Given the description of an element on the screen output the (x, y) to click on. 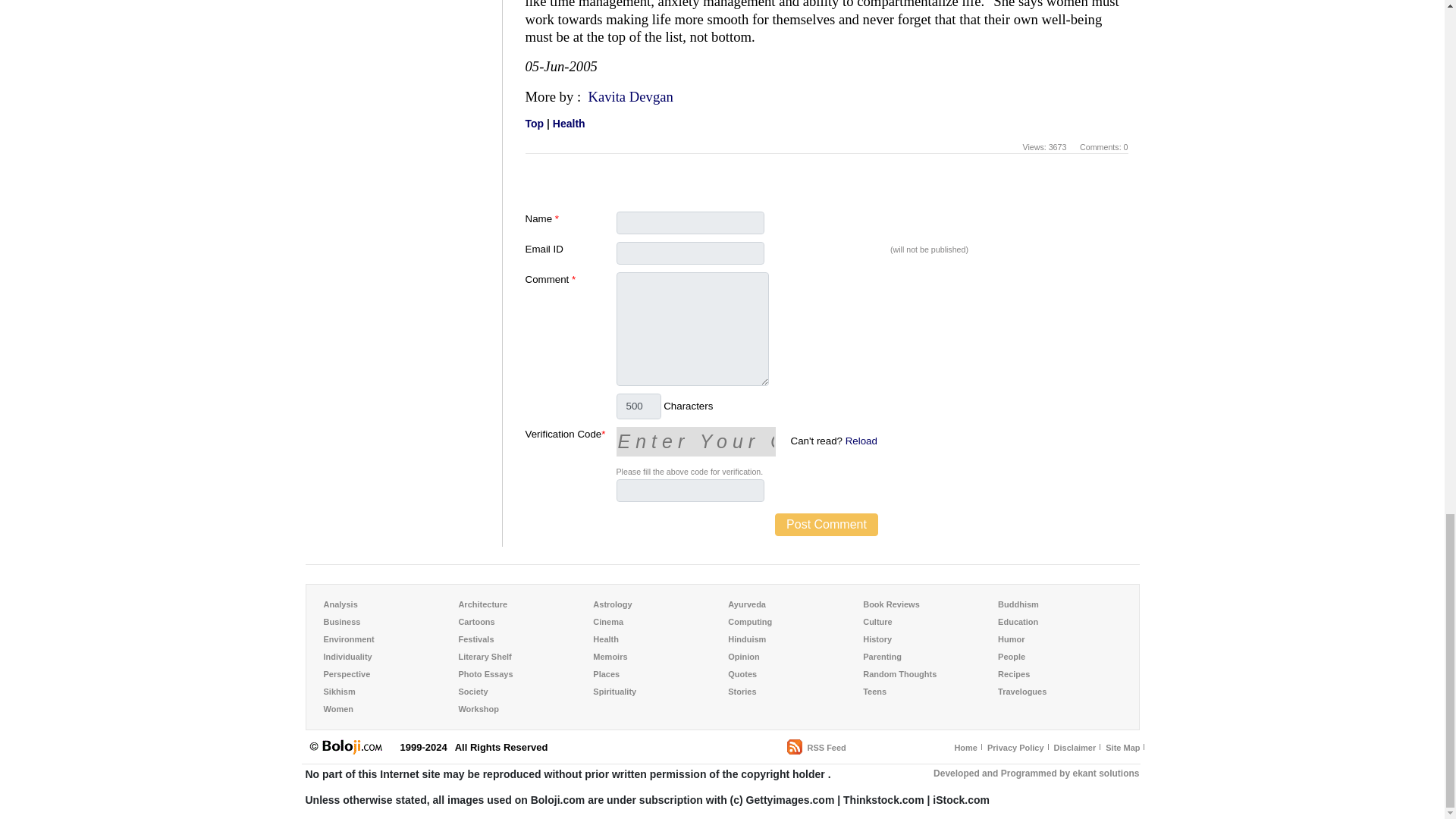
500 (638, 406)
Post Comment (825, 524)
